Given the description of an element on the screen output the (x, y) to click on. 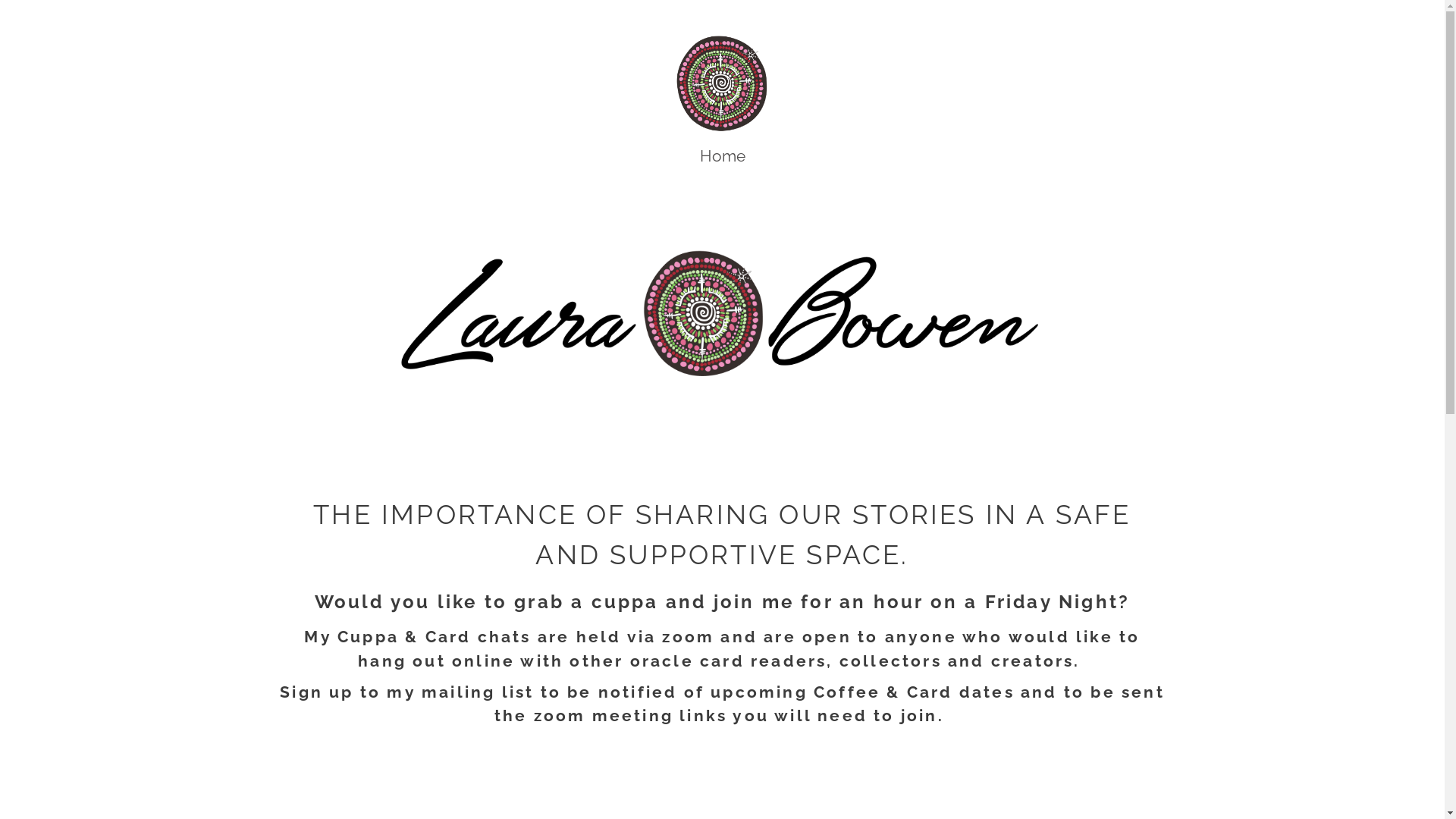
Home Element type: text (721, 155)
